Given the description of an element on the screen output the (x, y) to click on. 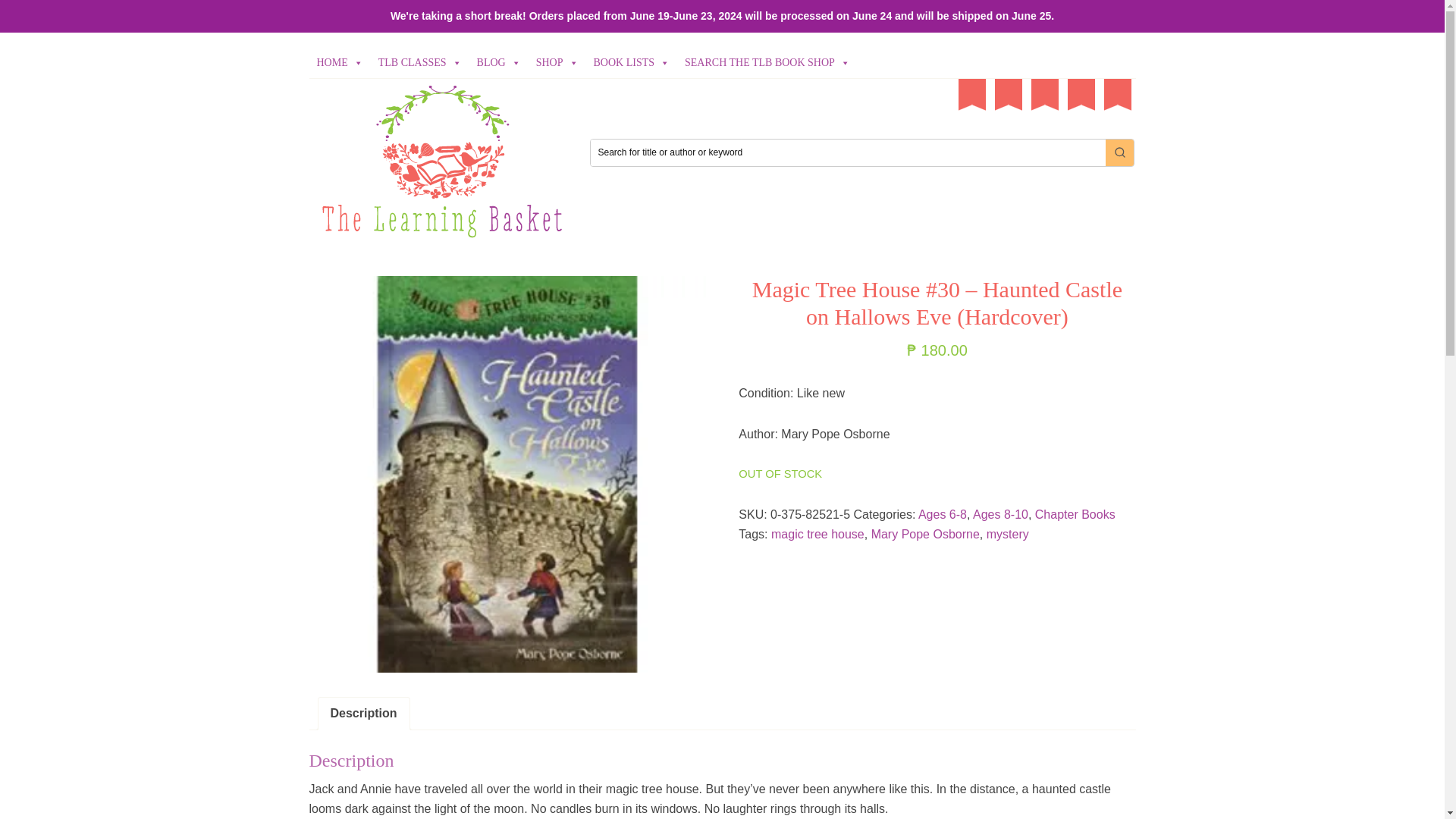
BLOG (498, 62)
Search for title or author or keyword (847, 152)
HOME (339, 62)
BOOK LISTS (632, 62)
TLB CLASSES (419, 62)
SHOP (557, 62)
Search for title or author or keyword (847, 152)
SEARCH THE TLB BOOK SHOP (767, 62)
